Given the description of an element on the screen output the (x, y) to click on. 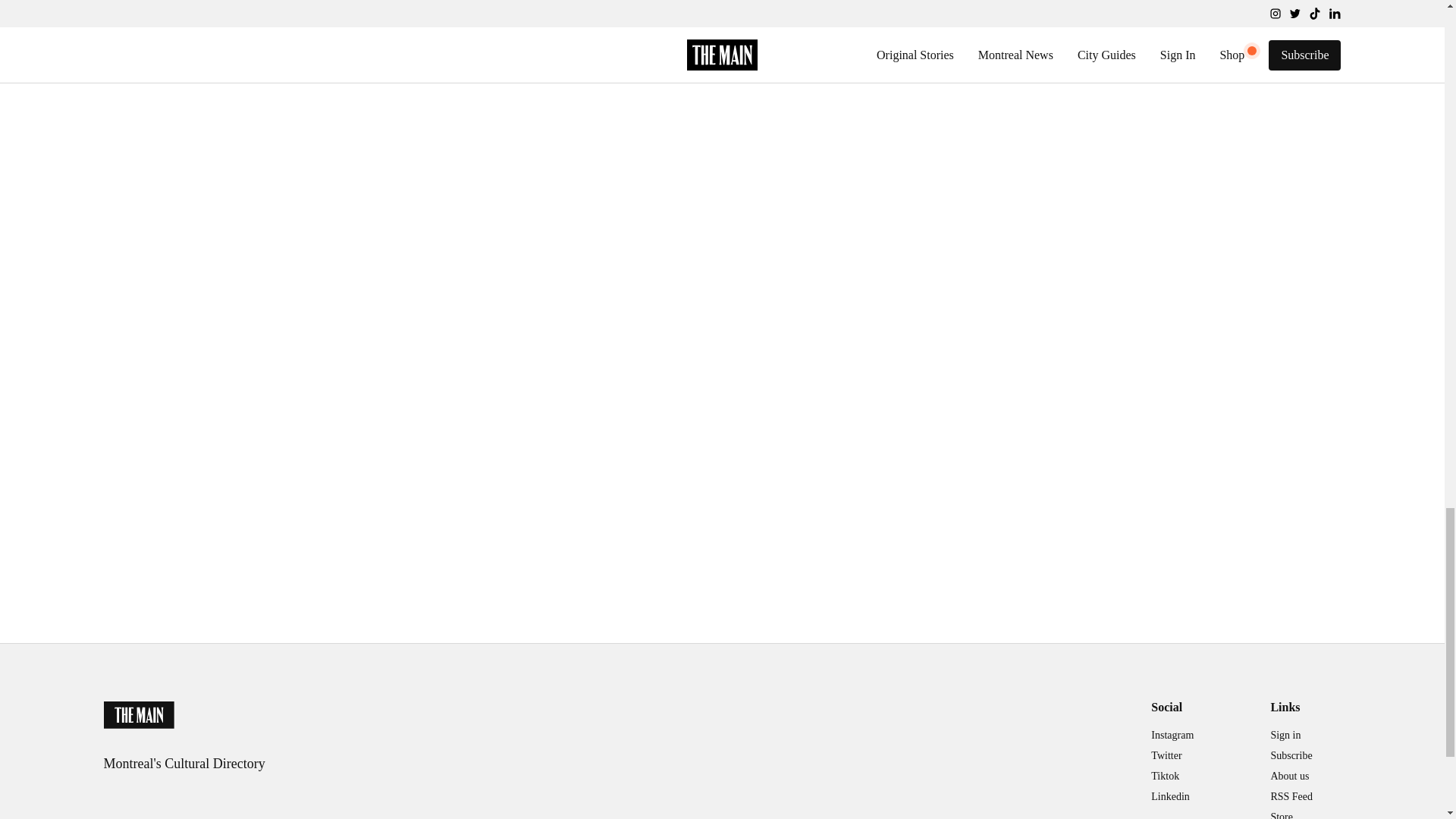
Sign in (1284, 737)
Instagram (1172, 737)
Subscribe (1290, 757)
Linkedin (1170, 796)
Twitter (1165, 757)
Tiktok (1165, 778)
